Given the description of an element on the screen output the (x, y) to click on. 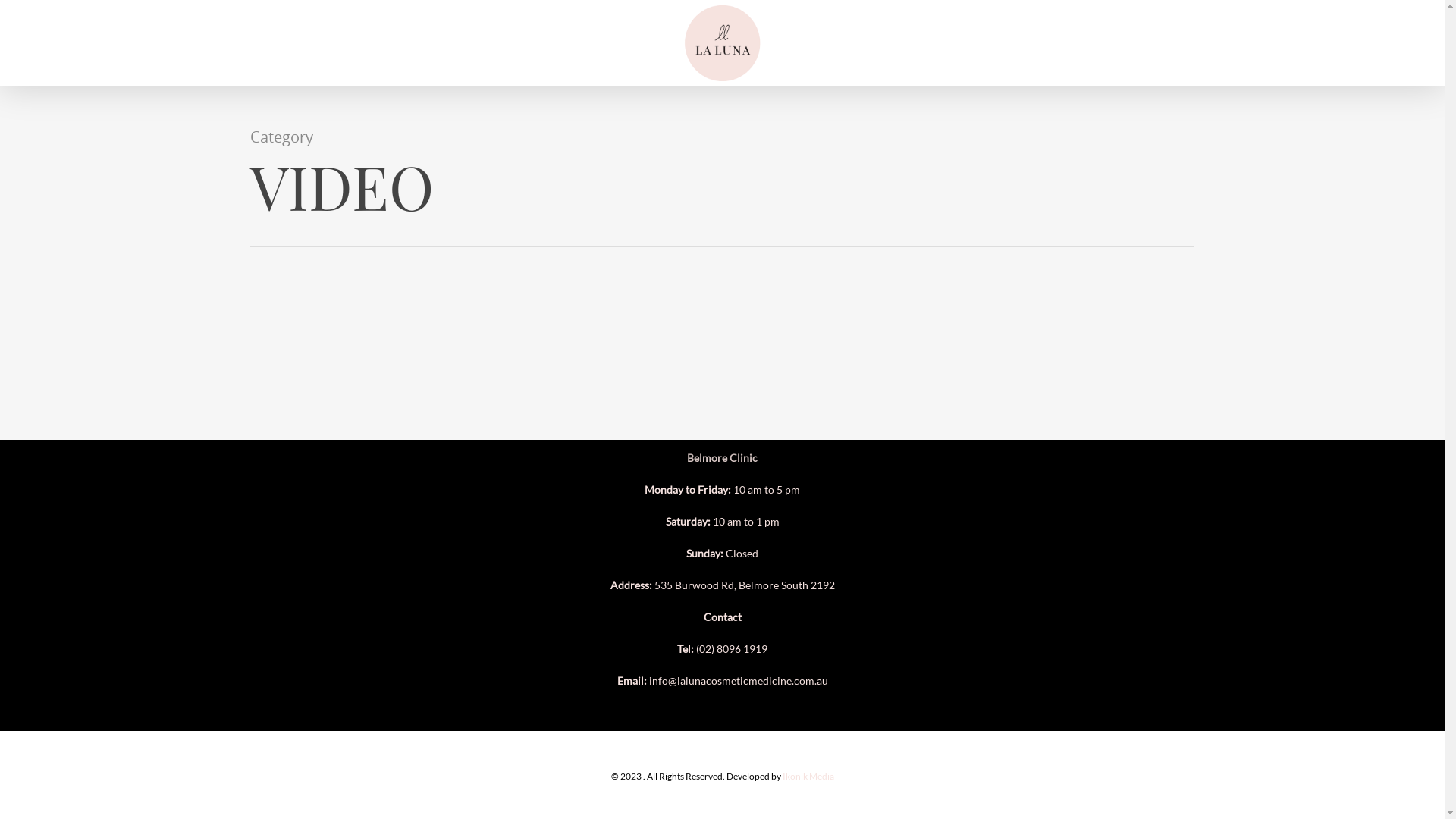
info@lalunacosmeticmedicine.com.au Element type: text (738, 680)
Real Time Analytics Element type: hover (30, 7)
Ikonik Media Element type: text (808, 775)
